Given the description of an element on the screen output the (x, y) to click on. 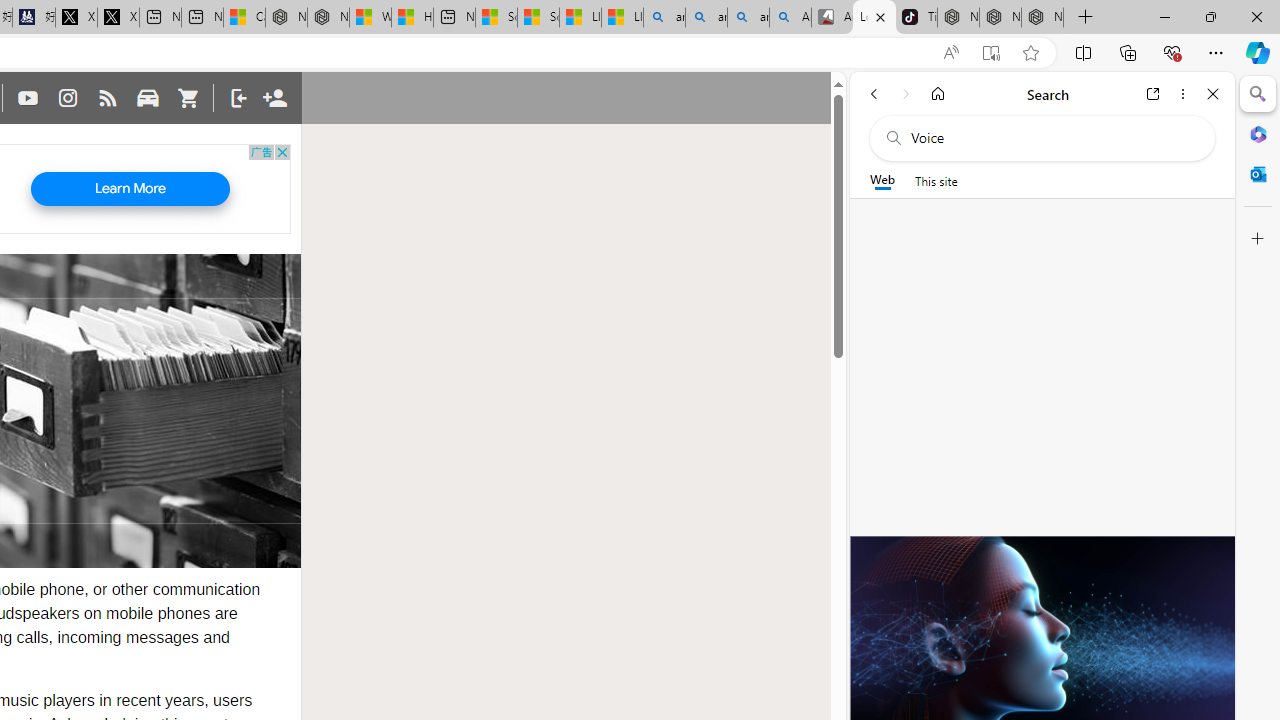
Search the web (1051, 137)
X (118, 17)
Nordace - Summer Adventures 2024 (328, 17)
This site scope (936, 180)
More options (1182, 93)
